Given the description of an element on the screen output the (x, y) to click on. 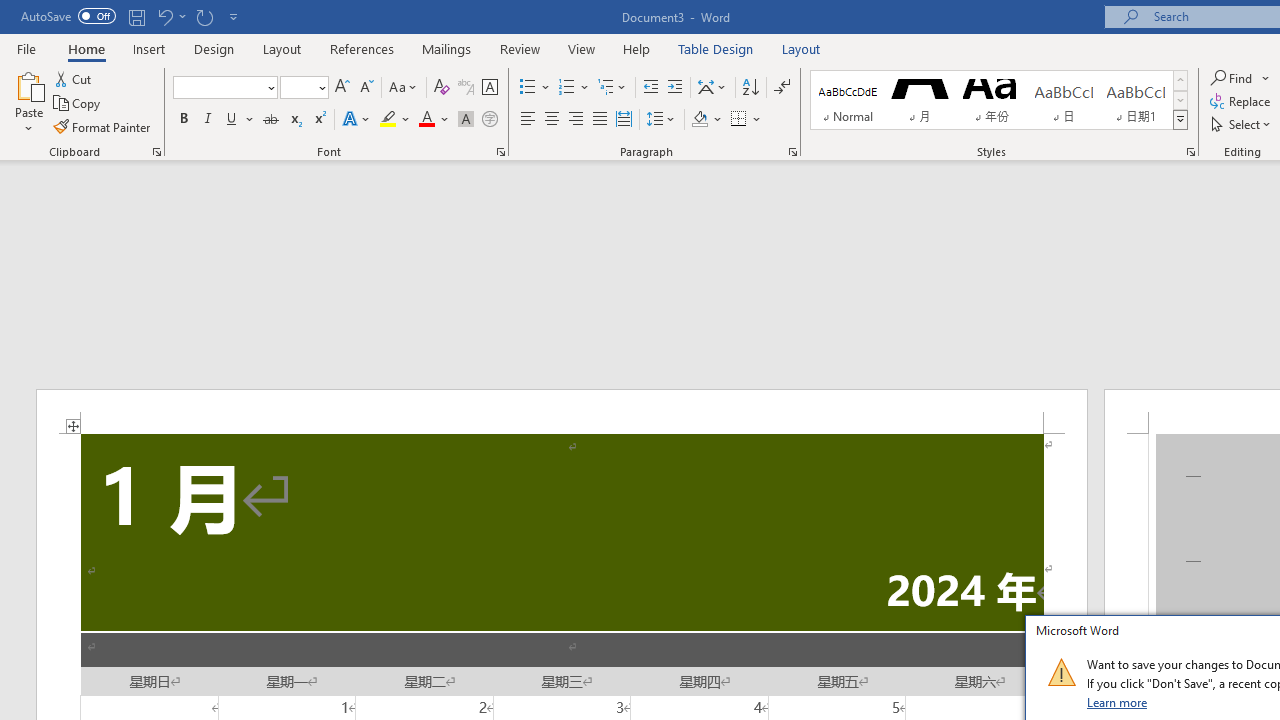
Mailings (447, 48)
Text Highlight Color (395, 119)
